Given the description of an element on the screen output the (x, y) to click on. 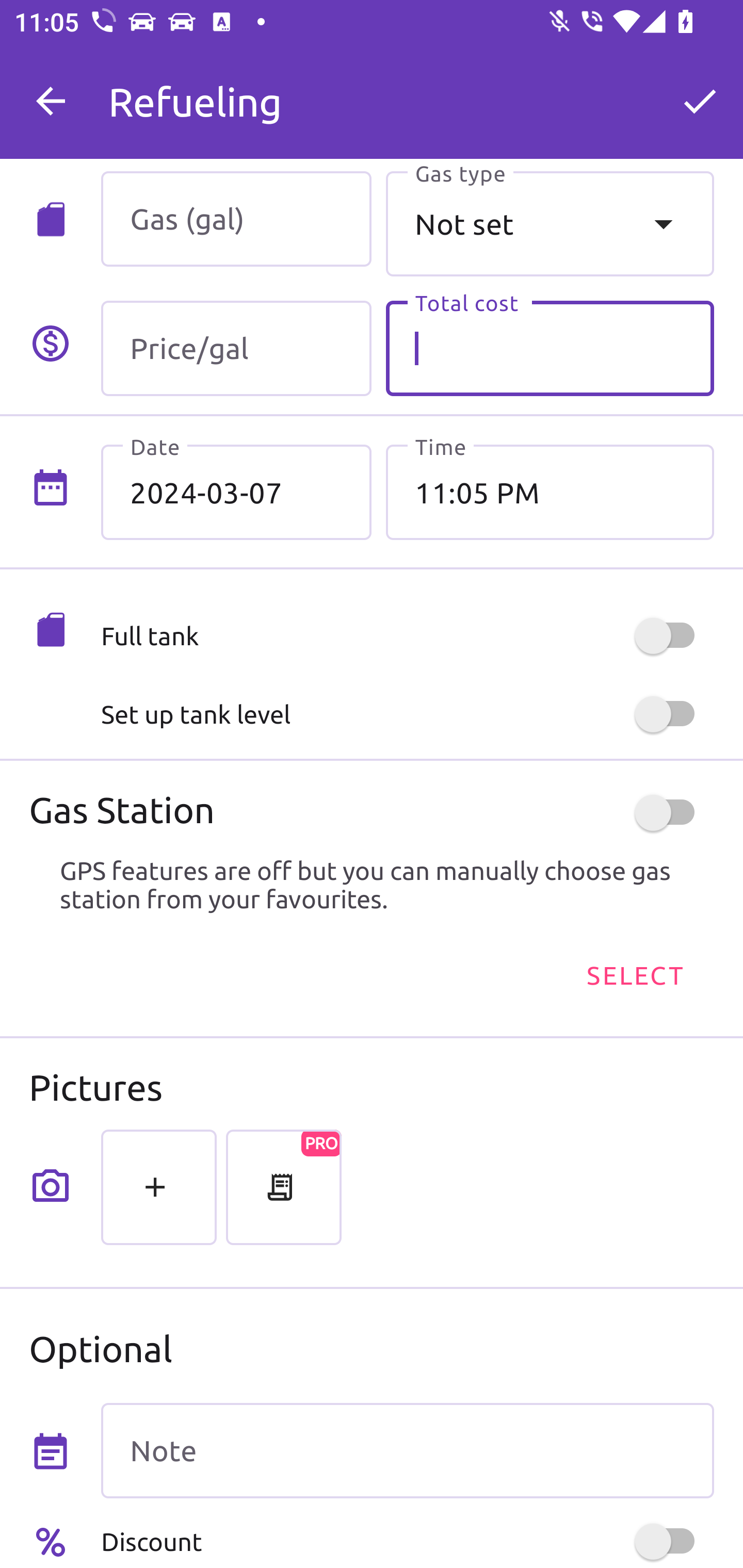
M My Car 0 km (407, 92)
Navigate up (50, 101)
OK (699, 101)
Gas (gal) (236, 218)
Not set (549, 222)
Price/gal (236, 348)
Total cost  (549, 348)
2024-03-07 (236, 492)
11:05 PM (549, 492)
Full tank (407, 635)
Set up tank level (407, 713)
SELECT (634, 974)
Note (407, 1451)
Discount (407, 1541)
